Given the description of an element on the screen output the (x, y) to click on. 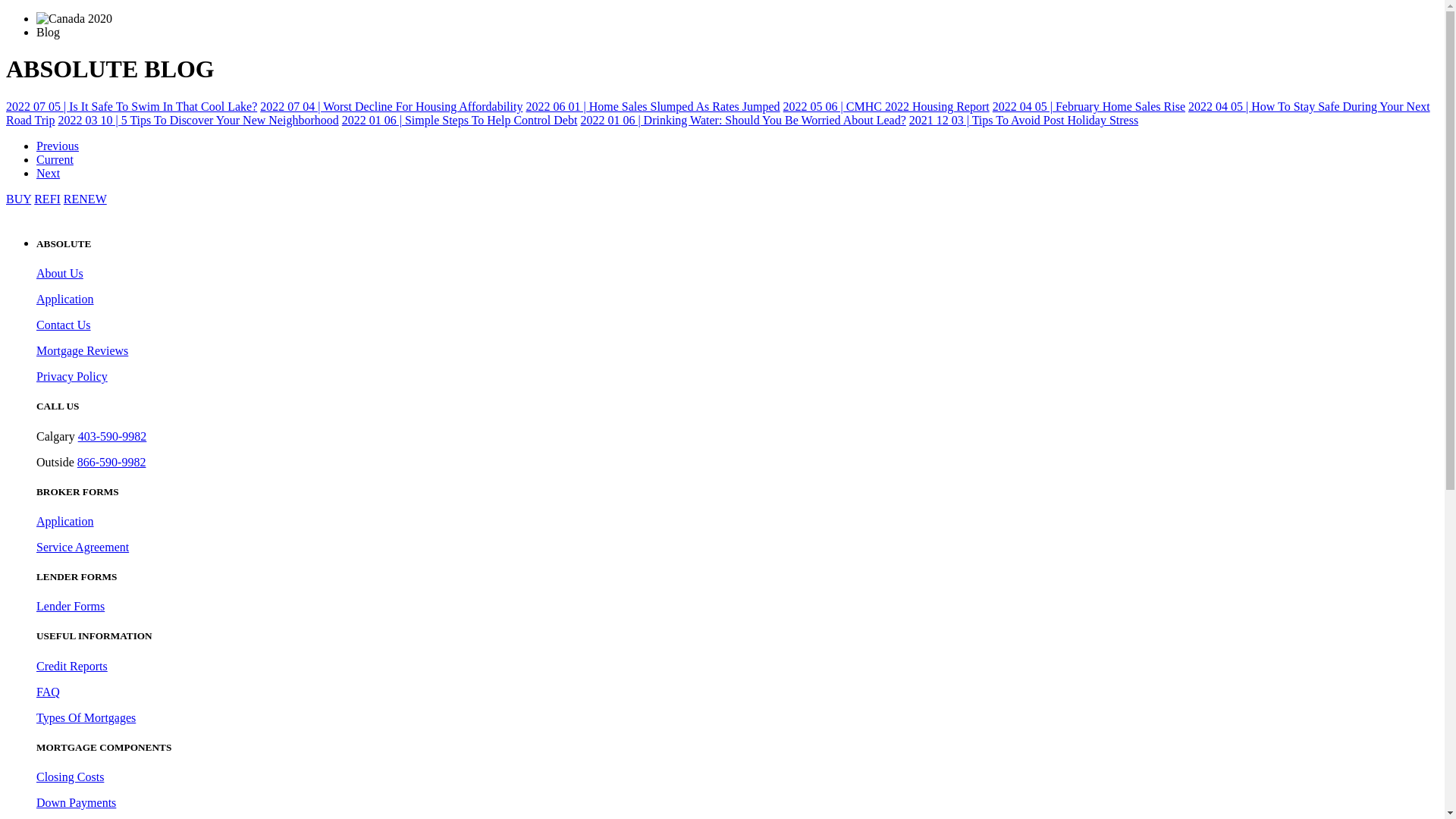
866-590-9982 Element type: text (111, 461)
2022 04 05 | February Home Sales Rise Element type: text (1088, 106)
Application Element type: text (65, 298)
REFI Element type: text (47, 198)
Application Element type: text (65, 520)
2022 05 06 | CMHC 2022 Housing Report Element type: text (886, 106)
2022 01 06 | Simple Steps To Help Control Debt Element type: text (459, 119)
Closing Costs Element type: text (69, 776)
2022 06 01 | Home Sales Slumped As Rates Jumped Element type: text (652, 106)
Privacy Policy Element type: text (71, 376)
RENEW Element type: text (84, 198)
403-590-9982 Element type: text (112, 435)
Current Element type: text (54, 159)
Down Payments Element type: text (76, 802)
2021 12 03 | Tips To Avoid Post Holiday Stress Element type: text (1023, 119)
Contact Us Element type: text (63, 324)
Service Agreement Element type: text (82, 546)
BUY Element type: text (18, 198)
2022 04 05 | How To Stay Safe During Your Next Road Trip Element type: text (718, 113)
Credit Reports Element type: text (71, 665)
2022 07 04 | Worst Decline For Housing Affordability Element type: text (391, 106)
FAQ Element type: text (47, 691)
Next Element type: text (47, 172)
Lender Forms Element type: text (70, 605)
About Us Element type: text (59, 272)
2022 07 05 | Is It Safe To Swim In That Cool Lake? Element type: text (131, 106)
Previous Element type: text (57, 145)
Types Of Mortgages Element type: text (85, 717)
Mortgage Reviews Element type: text (82, 350)
2022 03 10 | 5 Tips To Discover Your New Neighborhood Element type: text (197, 119)
